Given the description of an element on the screen output the (x, y) to click on. 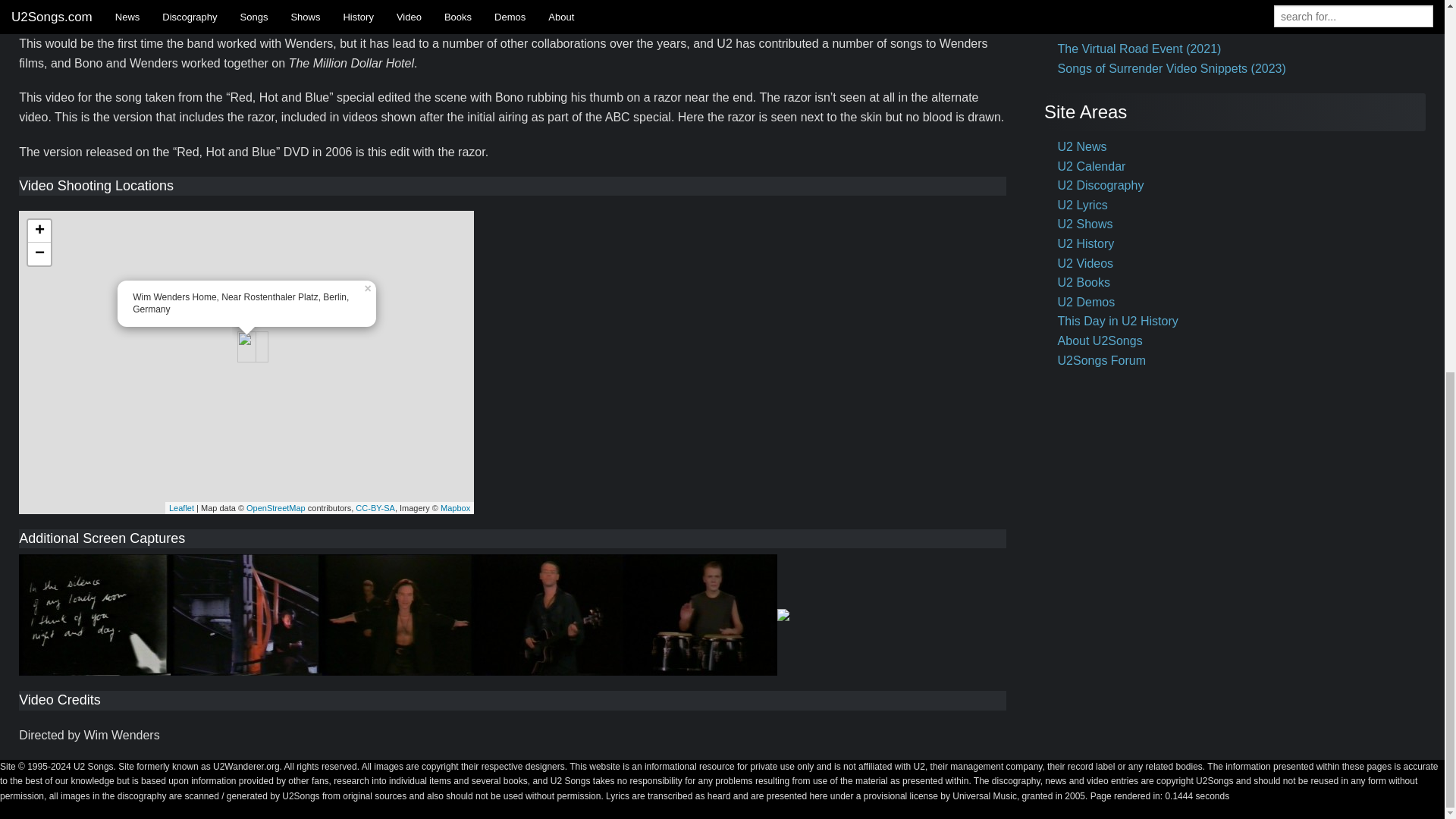
U2 Calendar (1091, 165)
Leaflet (180, 507)
Zoom out (38, 253)
A JS library for interactive maps (180, 507)
U2 Lyrics (1083, 205)
Mapbox (455, 507)
Zoom in (38, 231)
YouTube Refresh (1104, 29)
CC-BY-SA (374, 507)
U2 Discography (1101, 185)
